Given the description of an element on the screen output the (x, y) to click on. 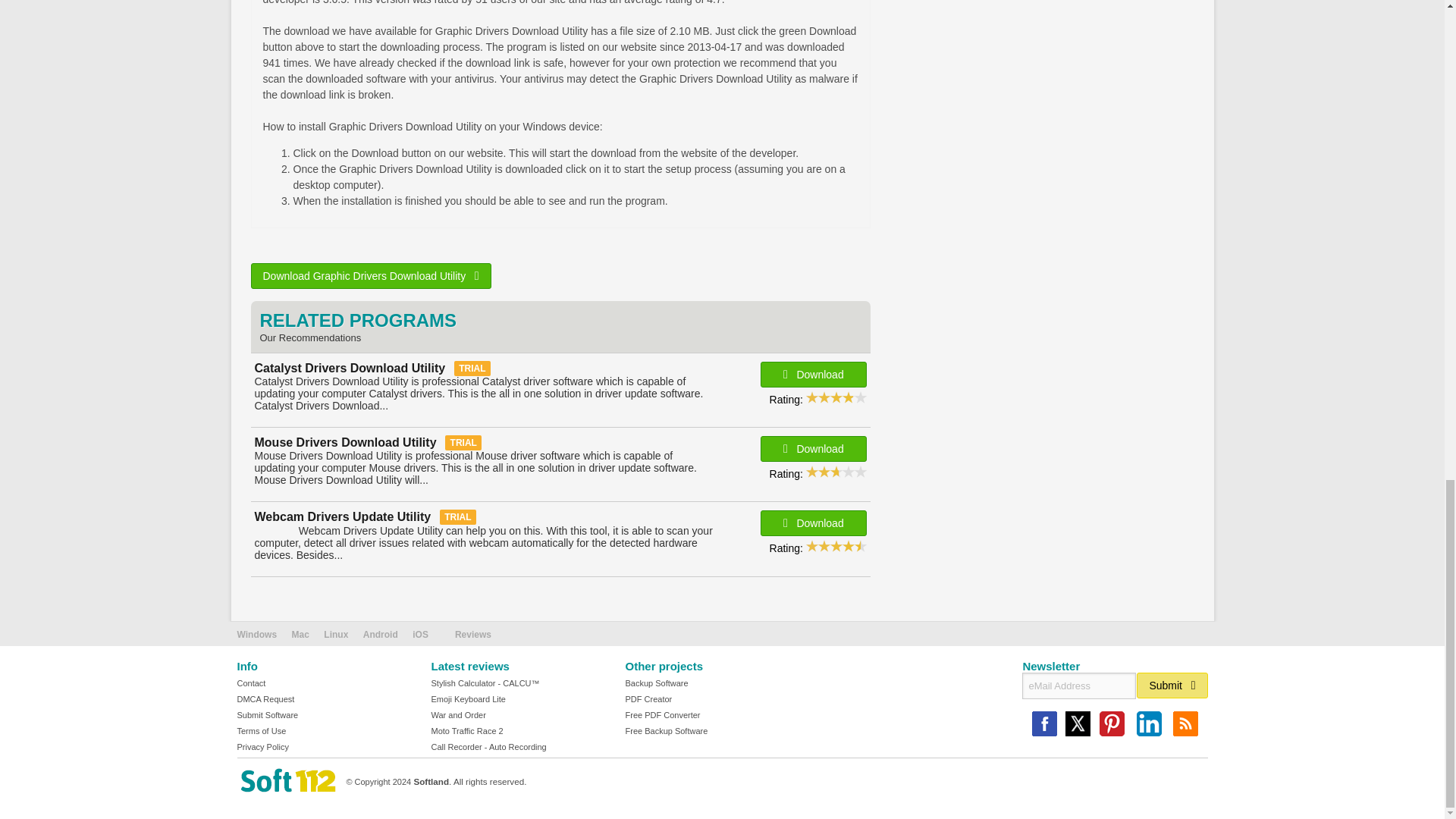
  Download (813, 374)
  Download (813, 448)
  Download (813, 523)
Download Graphic Drivers Download Utility   (370, 275)
